Given the description of an element on the screen output the (x, y) to click on. 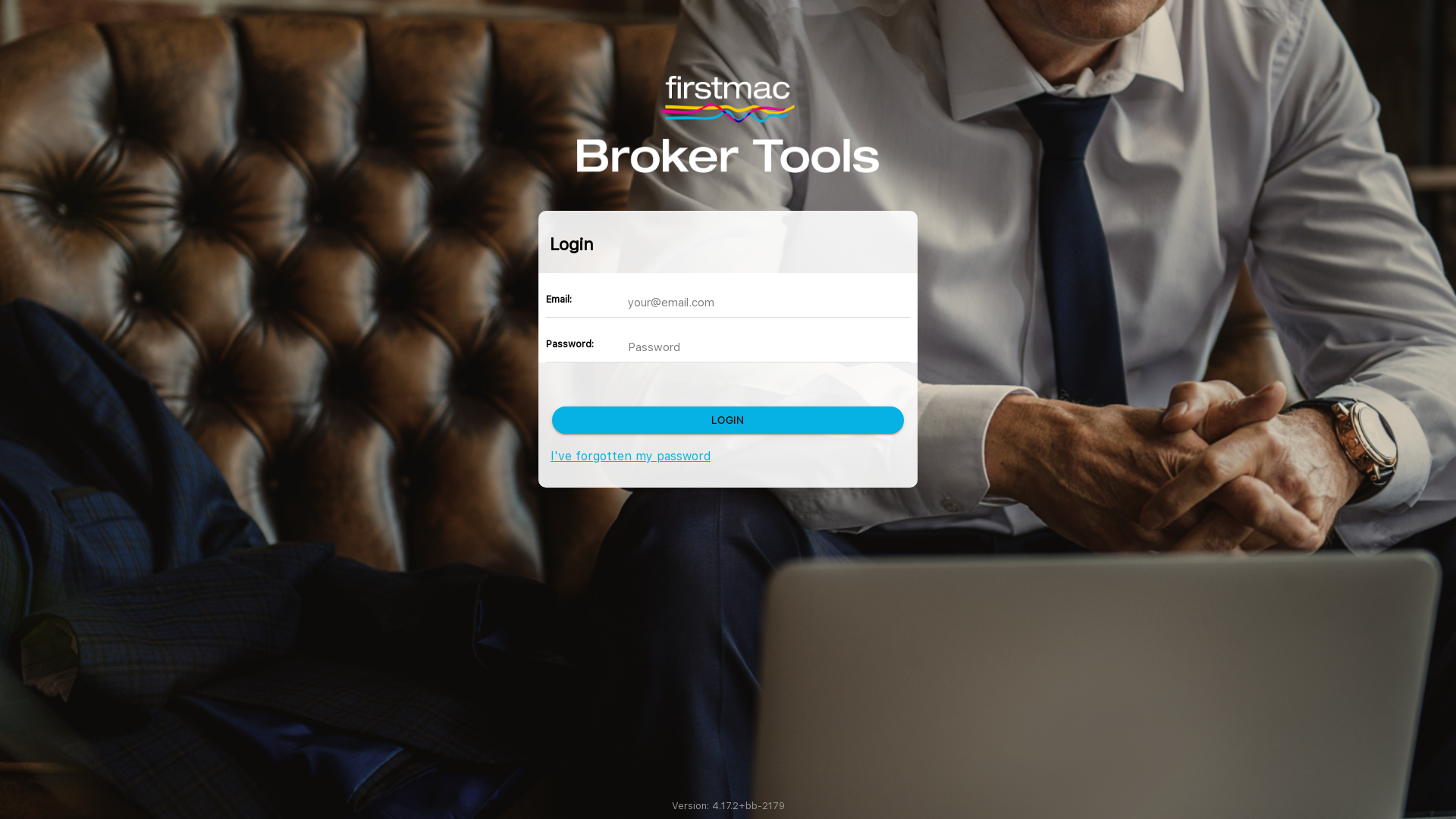
I've forgotten my password Element type: text (630, 455)
